Given the description of an element on the screen output the (x, y) to click on. 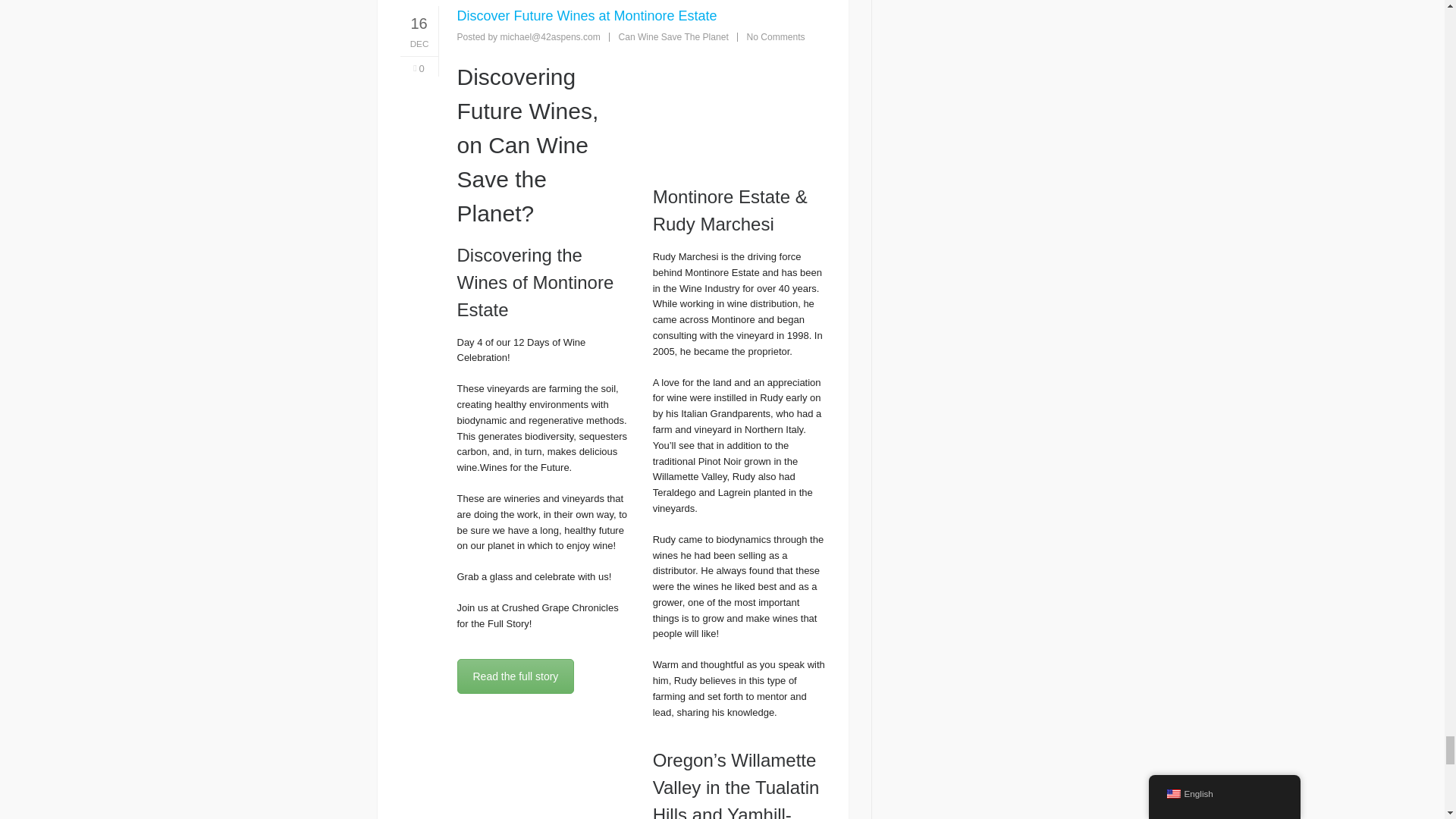
No Comments (775, 36)
